Given the description of an element on the screen output the (x, y) to click on. 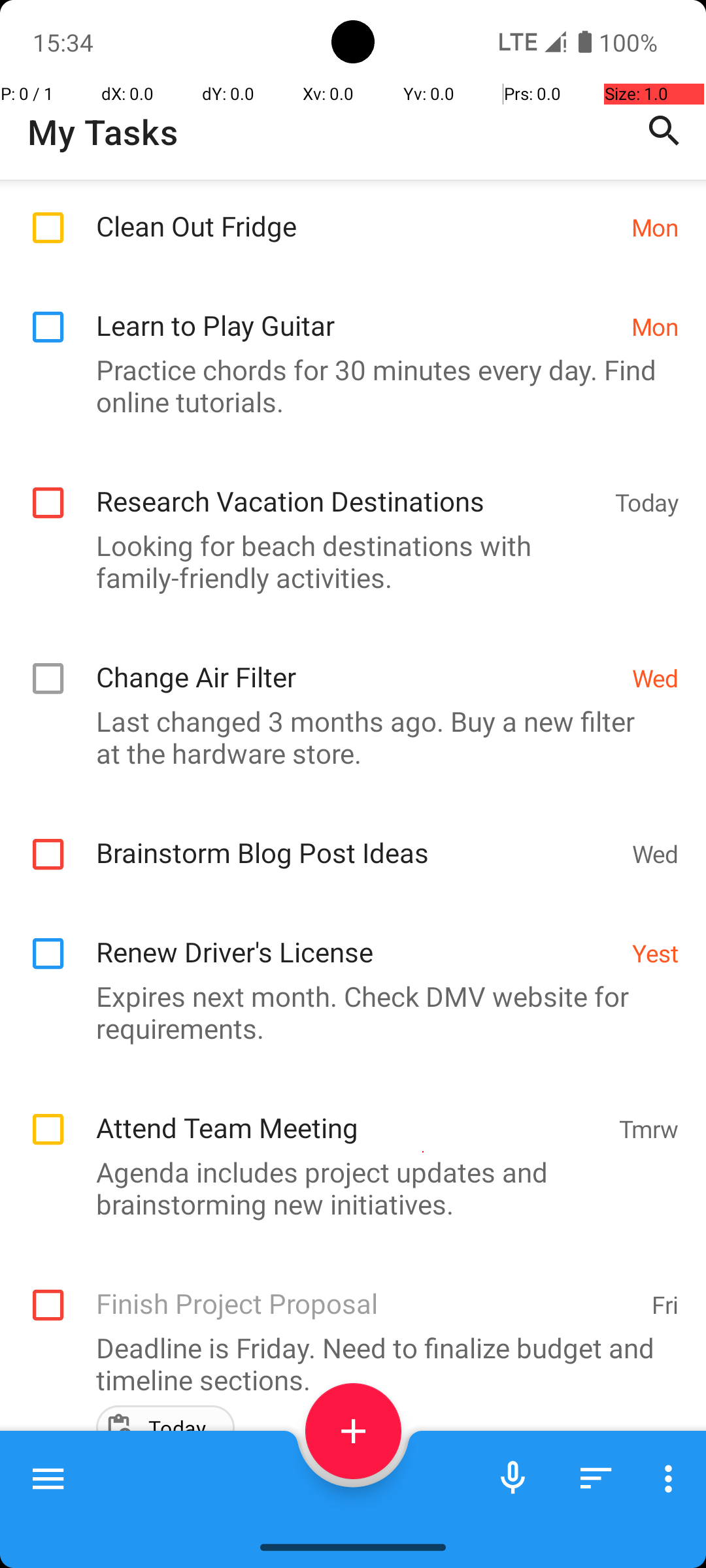
Practice chords for 30 minutes every day. Find online tutorials. Element type: android.widget.TextView (346, 385)
Looking for beach destinations with family-friendly activities. Element type: android.widget.TextView (346, 560)
Expires next month. Check DMV website for requirements. Element type: android.widget.TextView (346, 1011)
Client Feedback Session Element type: android.widget.TextView (363, 1501)
